Given the description of an element on the screen output the (x, y) to click on. 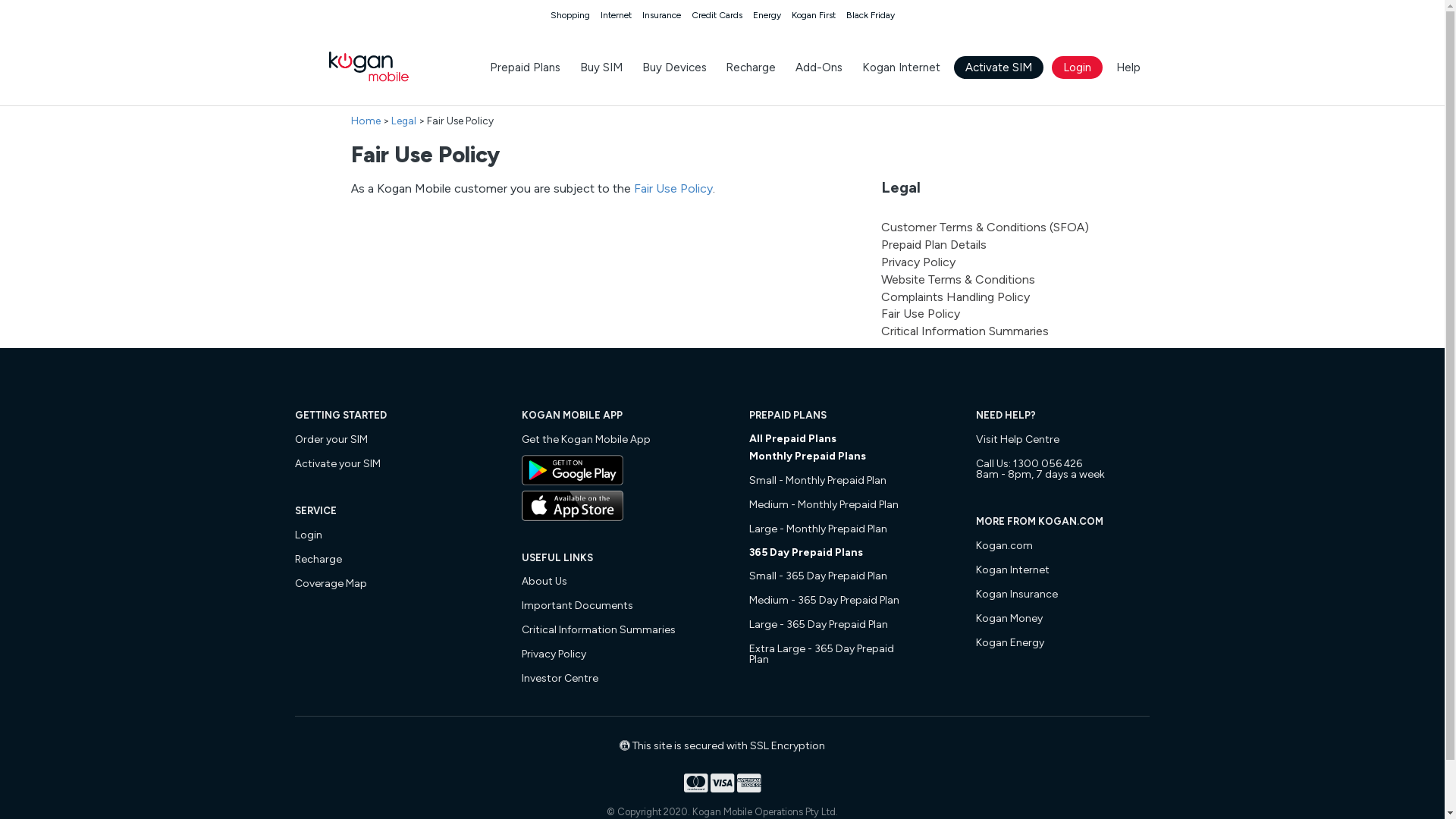
Investor Centre Element type: text (600, 678)
Large - 365 Day Prepaid Plan Element type: text (828, 624)
Privacy Policy Element type: text (600, 654)
Small - 365 Day Prepaid Plan Element type: text (828, 576)
About Us Element type: text (600, 582)
Kogan Insurance Element type: text (1055, 594)
Activate your SIM Element type: text (374, 464)
Critical Information Summaries Element type: text (964, 330)
All Prepaid Plans Element type: text (828, 439)
Website Terms & Conditions Element type: text (958, 279)
Medium - 365 Day Prepaid Plan Element type: text (828, 600)
Order your SIM Element type: text (374, 439)
Kogan Money Element type: text (1055, 618)
365 Day Prepaid Plans Element type: text (828, 552)
Critical Information Summaries Element type: text (600, 630)
Recharge Element type: text (374, 559)
Extra Large - 365 Day Prepaid Plan Element type: text (828, 654)
Shopping Element type: text (569, 14)
Kogan Internet Element type: text (900, 67)
Help Element type: text (1127, 67)
Large - Monthly Prepaid Plan Element type: text (828, 529)
Monthly Prepaid Plans Element type: text (828, 456)
Fair Use Policy Element type: text (672, 188)
Fair Use Policy Element type: text (920, 313)
Black Friday Element type: text (869, 14)
Energy Element type: text (766, 14)
Recharge Element type: text (750, 67)
Add-Ons Element type: text (819, 67)
Get the Kogan Mobile App Element type: text (600, 439)
Kogan.com Element type: text (1055, 545)
Important Documents Element type: text (600, 605)
Customer Terms & Conditions (SFOA) Element type: text (984, 226)
Call Us: 1300 056 426
8am - 8pm, 7 days a week Element type: text (1055, 469)
Buy SIM Element type: text (600, 67)
Internet Element type: text (615, 14)
Login Element type: text (374, 535)
Privacy Policy Element type: text (918, 261)
Prepaid Plans Element type: text (525, 67)
Visit Help Centre Element type: text (1055, 439)
Credit Cards Element type: text (715, 14)
Kogan Energy Element type: text (1055, 642)
Kogan First Element type: text (812, 14)
Buy Devices Element type: text (674, 67)
Home Element type: text (364, 120)
Activate SIM Element type: text (998, 67)
Prepaid Plan Details Element type: text (933, 244)
Login Element type: text (1076, 67)
Kogan Internet Element type: text (1055, 570)
Medium - Monthly Prepaid Plan Element type: text (828, 504)
Legal Element type: text (403, 120)
Complaints Handling Policy Element type: text (955, 296)
Coverage Map Element type: text (374, 583)
Insurance Element type: text (661, 14)
Small - Monthly Prepaid Plan Element type: text (828, 480)
